Given the description of an element on the screen output the (x, y) to click on. 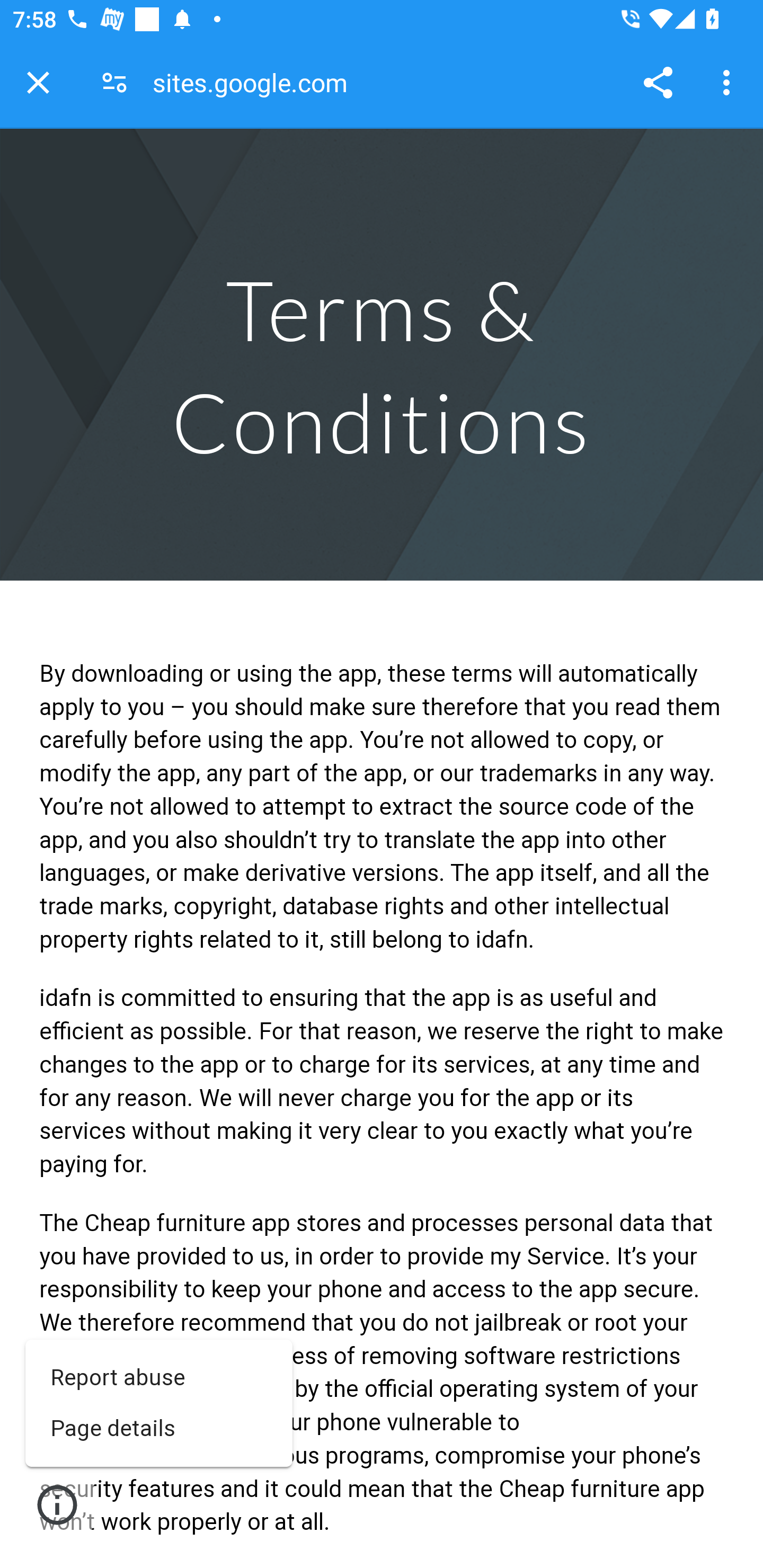
Close tab (38, 82)
Share (657, 82)
Customize and control Google Chrome (729, 82)
Connection is secure (114, 81)
sites.google.com (256, 81)
Report abuse (158, 1377)
Page details (158, 1428)
Site actions (57, 1504)
